Given the description of an element on the screen output the (x, y) to click on. 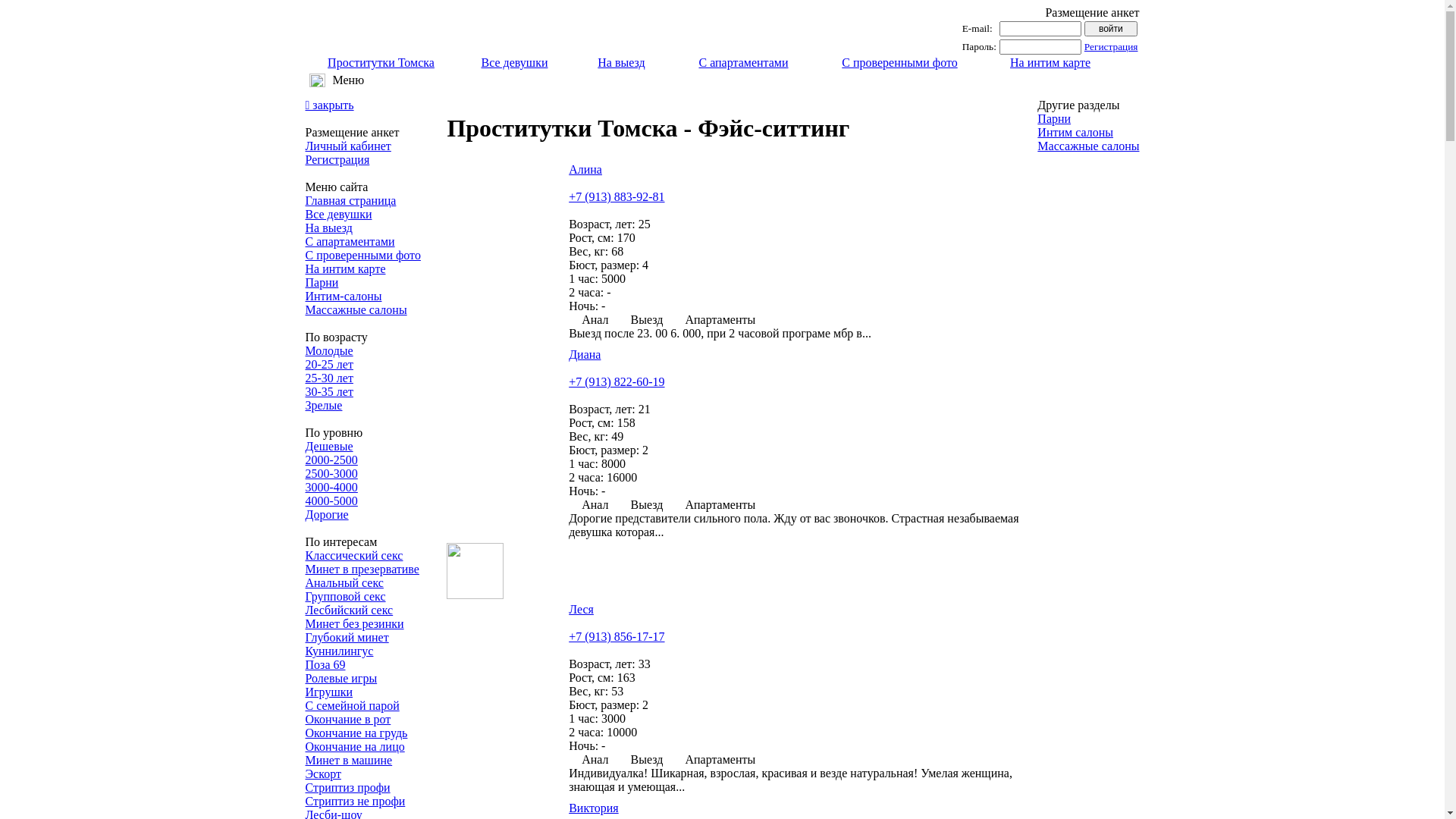
+7 (913) 856-17-17 Element type: text (616, 636)
4000-5000 Element type: text (330, 500)
2500-3000 Element type: text (330, 473)
2000-2500 Element type: text (330, 459)
3000-4000 Element type: text (330, 486)
+7 (913) 822-60-19 Element type: text (616, 381)
+7 (913) 883-92-81 Element type: text (616, 196)
